Given the description of an element on the screen output the (x, y) to click on. 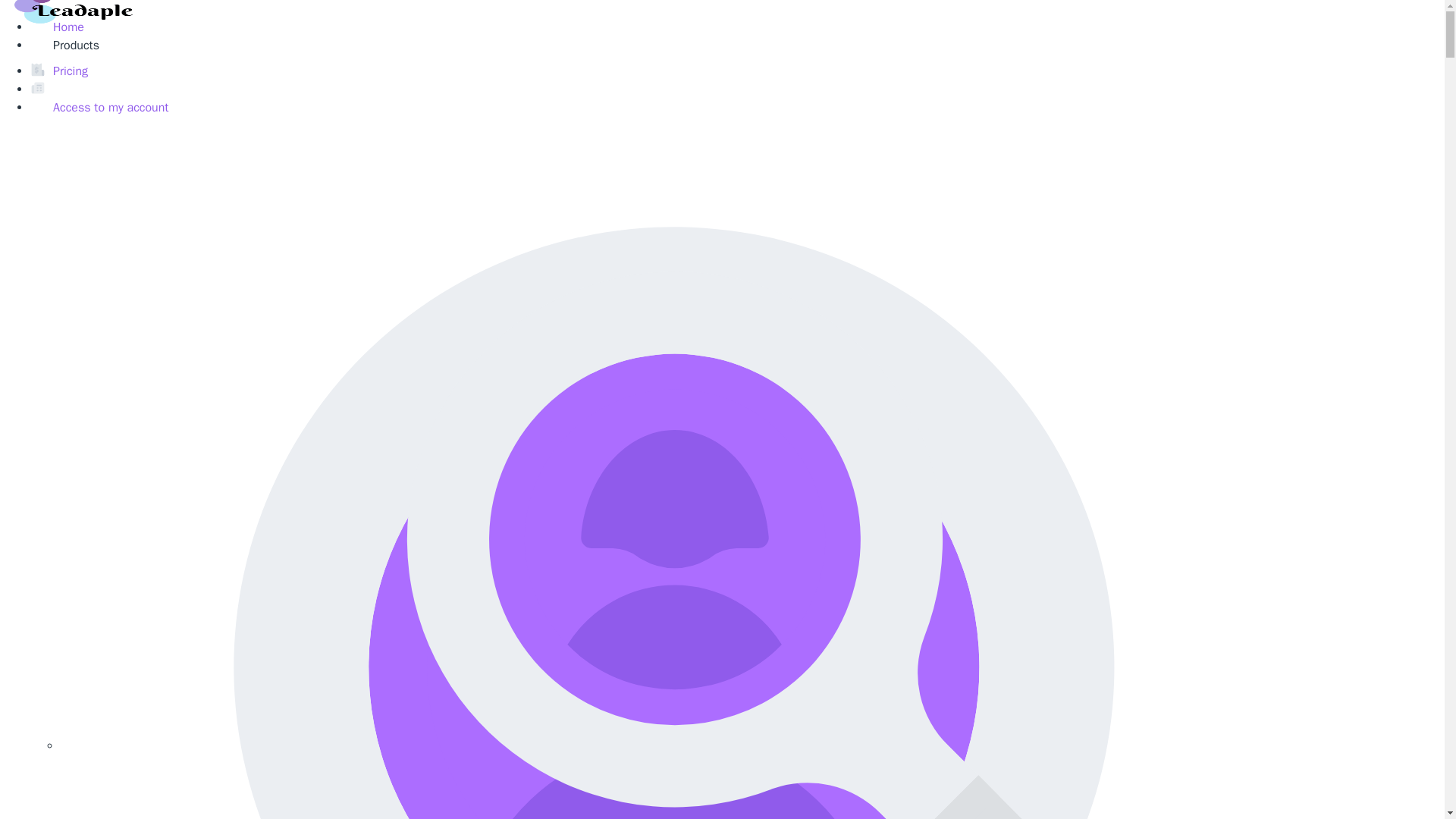
Home (68, 27)
Access to my account (110, 107)
Pricing (69, 70)
